Given the description of an element on the screen output the (x, y) to click on. 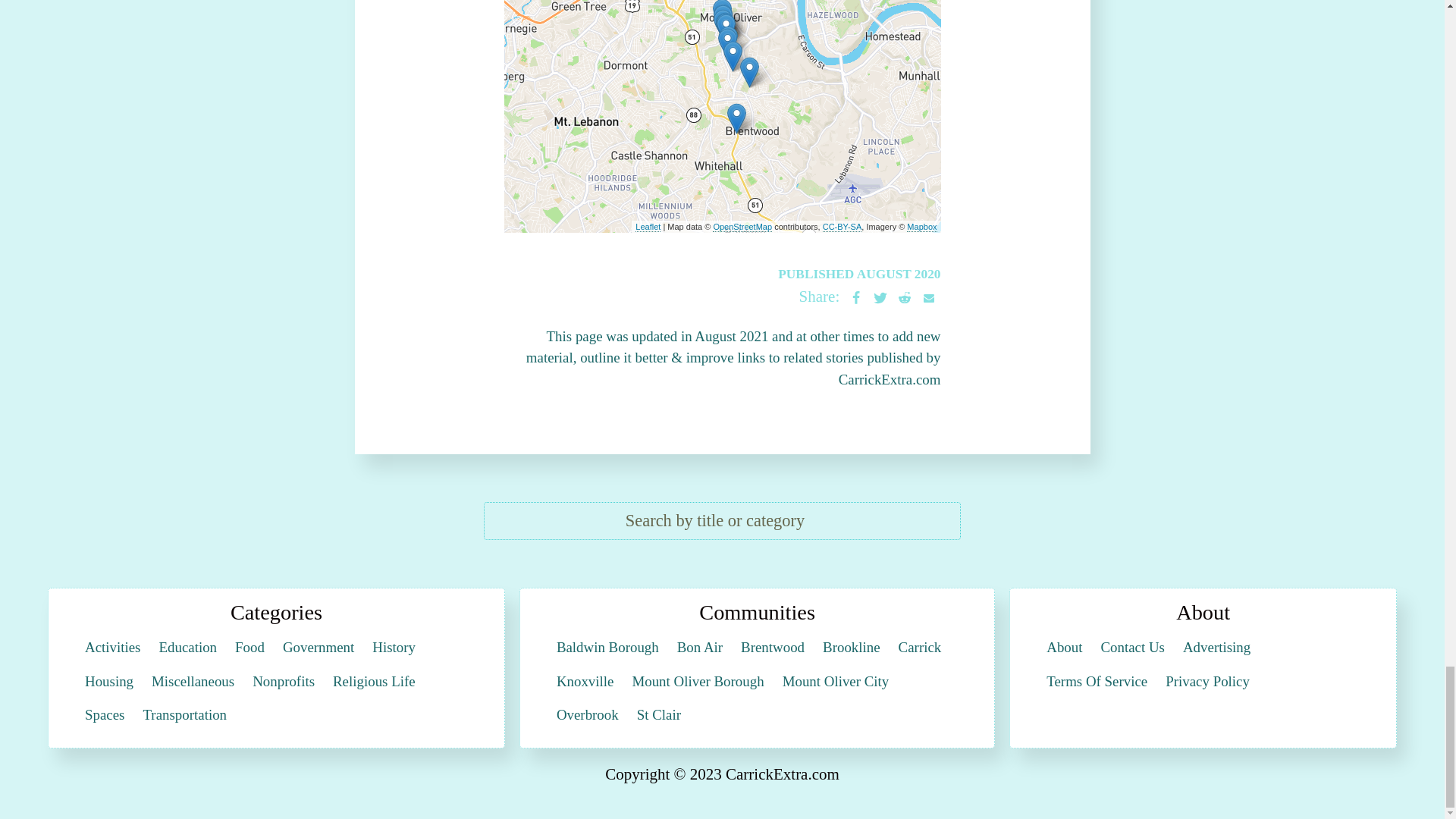
Share this on Twitter (879, 298)
A JS library for interactive maps (647, 226)
